Given the description of an element on the screen output the (x, y) to click on. 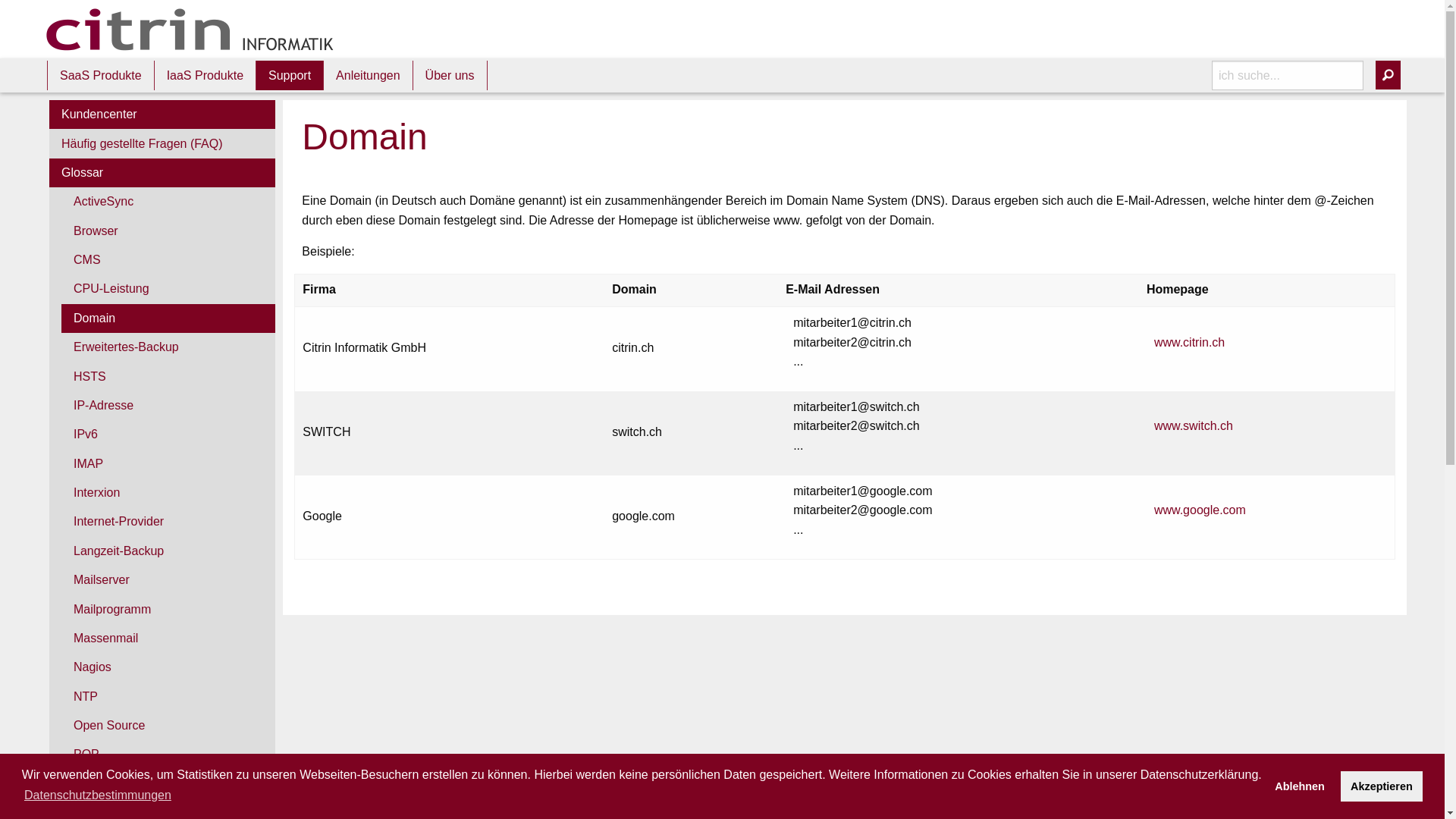
Support Element type: text (289, 74)
Browser Element type: text (168, 230)
Mailprogramm Element type: text (168, 608)
Open Source Element type: text (168, 725)
Datenschutzbestimmungen Element type: text (97, 795)
IPv6 Element type: text (168, 434)
POP Element type: text (168, 754)
Kundencenter Element type: text (162, 114)
www.google.com Element type: text (1199, 509)
Nagios Element type: text (168, 666)
IMAP Element type: text (168, 462)
Ablehnen Element type: text (1299, 786)
CMS Element type: text (168, 259)
Langzeit-Backup Element type: text (168, 550)
SaaS Produkte Element type: text (100, 74)
HSTS Element type: text (168, 375)
Erweitertes-Backup Element type: text (168, 346)
IaaS Produkte Element type: text (204, 74)
CPU-Leistung Element type: text (168, 288)
Mailserver Element type: text (168, 579)
IP-Adresse Element type: text (168, 405)
Massenmail Element type: text (168, 638)
Interxion Element type: text (168, 492)
Internet-Provider Element type: text (168, 521)
www.switch.ch Element type: text (1193, 425)
NTP Element type: text (168, 696)
ActiveSync Element type: text (168, 201)
PHP Element type: text (168, 783)
Anleitungen Element type: text (367, 74)
www.citrin.ch Element type: text (1189, 341)
Glossar Element type: text (162, 172)
Suche Element type: text (1387, 74)
Akzeptieren Element type: text (1381, 786)
Domain Element type: text (168, 318)
